Given the description of an element on the screen output the (x, y) to click on. 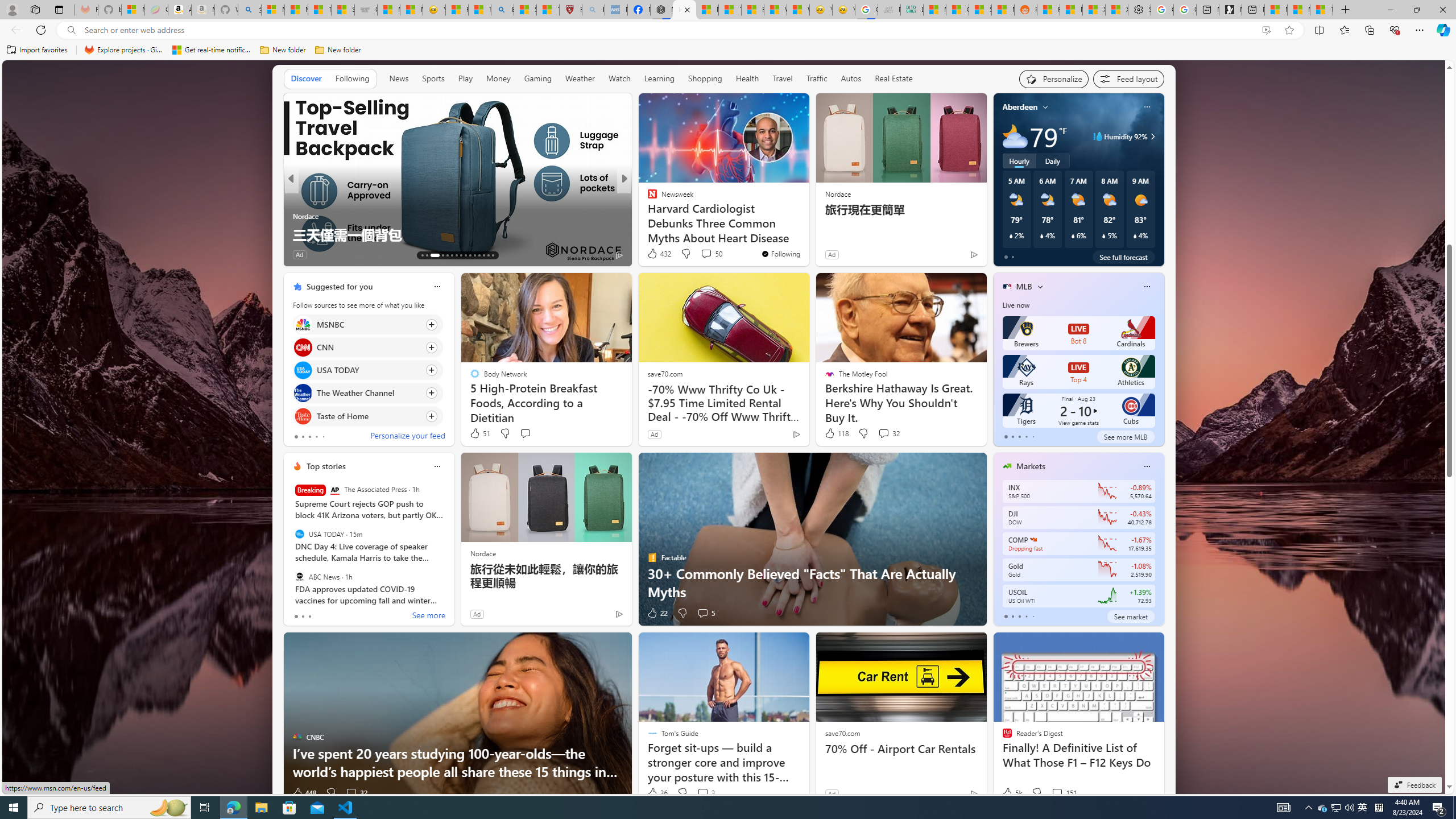
Watch (619, 78)
10 Food Myths Debunked with Real Facts (807, 234)
Moneywise (647, 197)
Gaming (537, 78)
70% Off - Airport Car Rentals (900, 748)
View comments 5 Comment (703, 613)
View comments 1 Comment (702, 254)
Hourly (1018, 160)
Class: weather-current-precipitation-glyph (1134, 235)
View comments 7 Comment (698, 254)
